Given the description of an element on the screen output the (x, y) to click on. 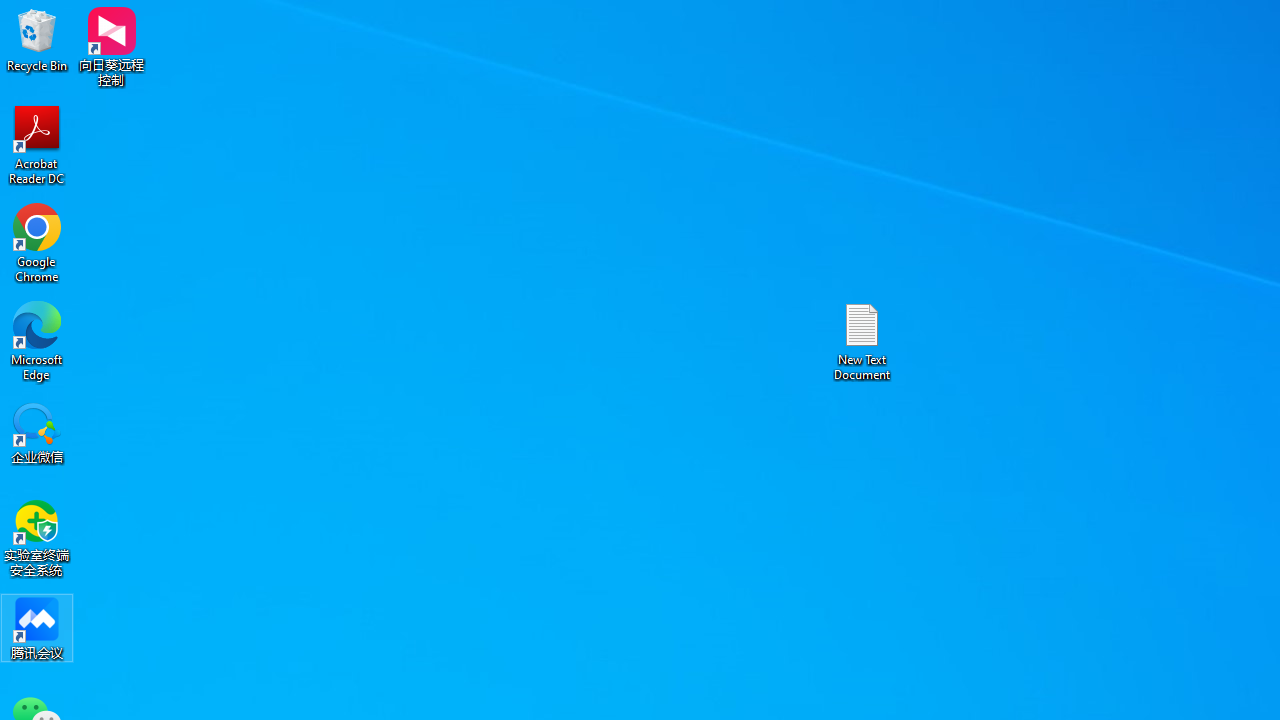
Microsoft Edge (37, 340)
Acrobat Reader DC (37, 144)
Google Chrome (37, 242)
New Text Document (861, 340)
Recycle Bin (37, 39)
